Given the description of an element on the screen output the (x, y) to click on. 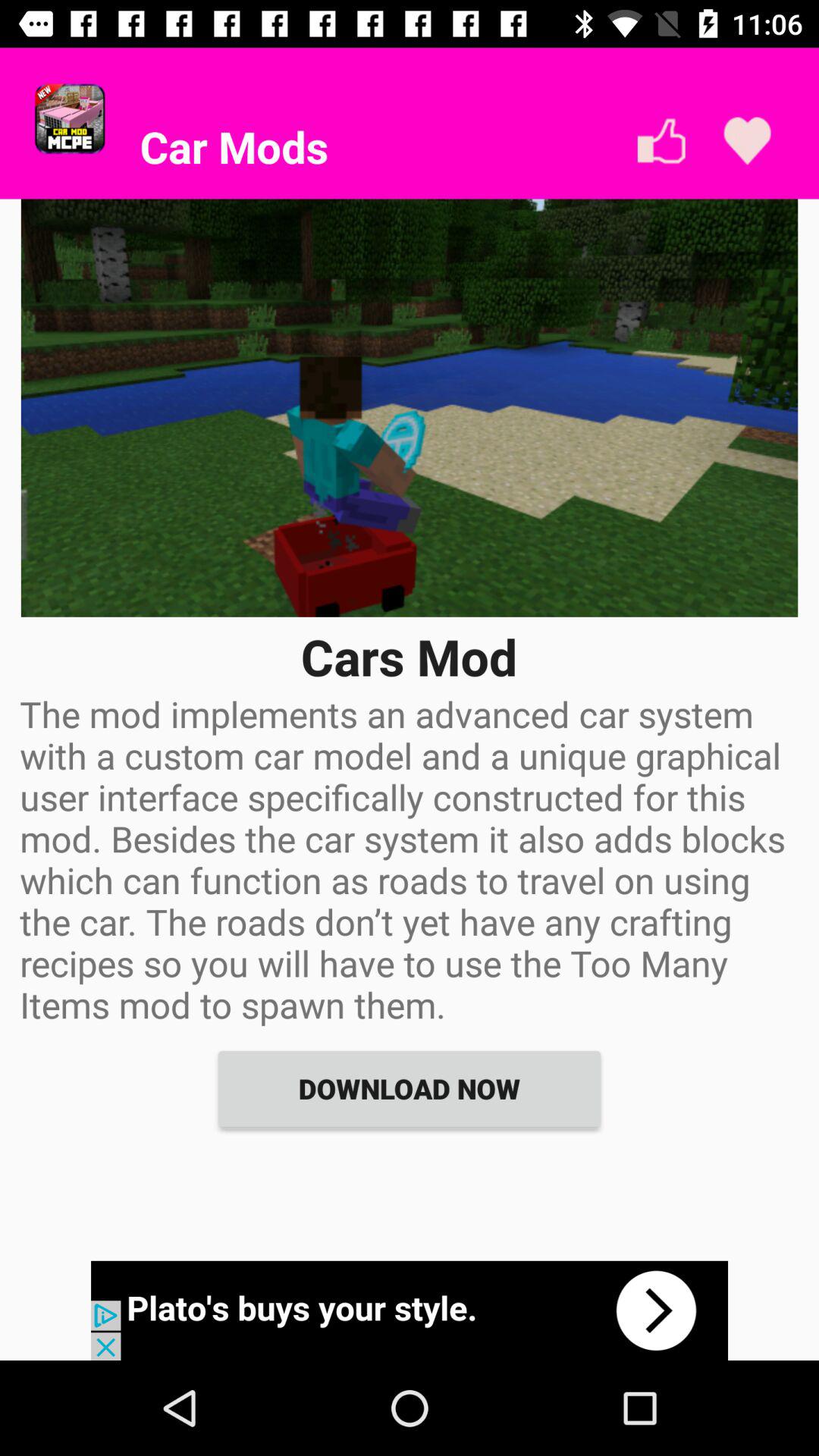
like (661, 140)
